Given the description of an element on the screen output the (x, y) to click on. 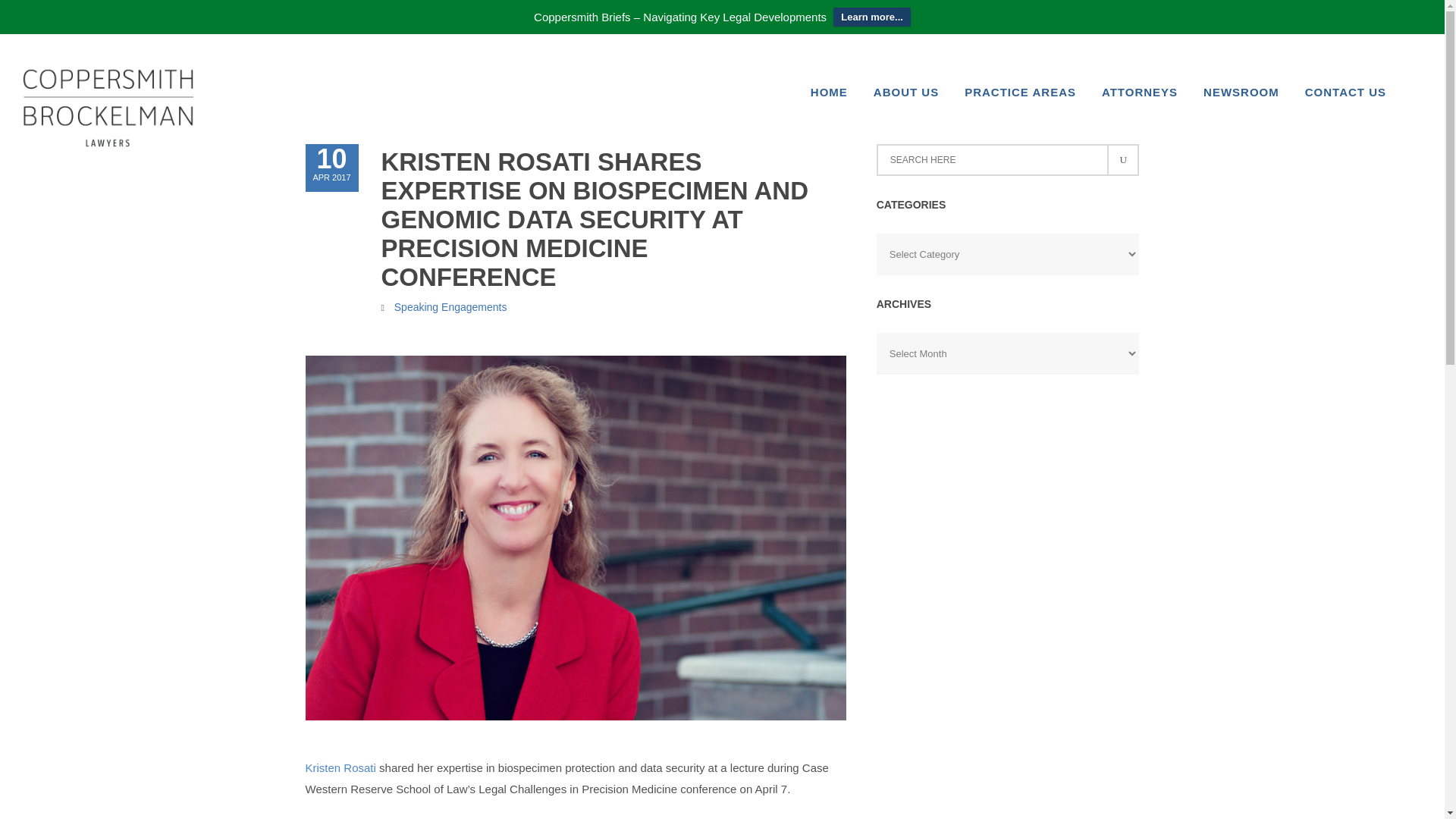
Learn more... (871, 16)
U (1139, 89)
Sign up (1121, 159)
